Given the description of an element on the screen output the (x, y) to click on. 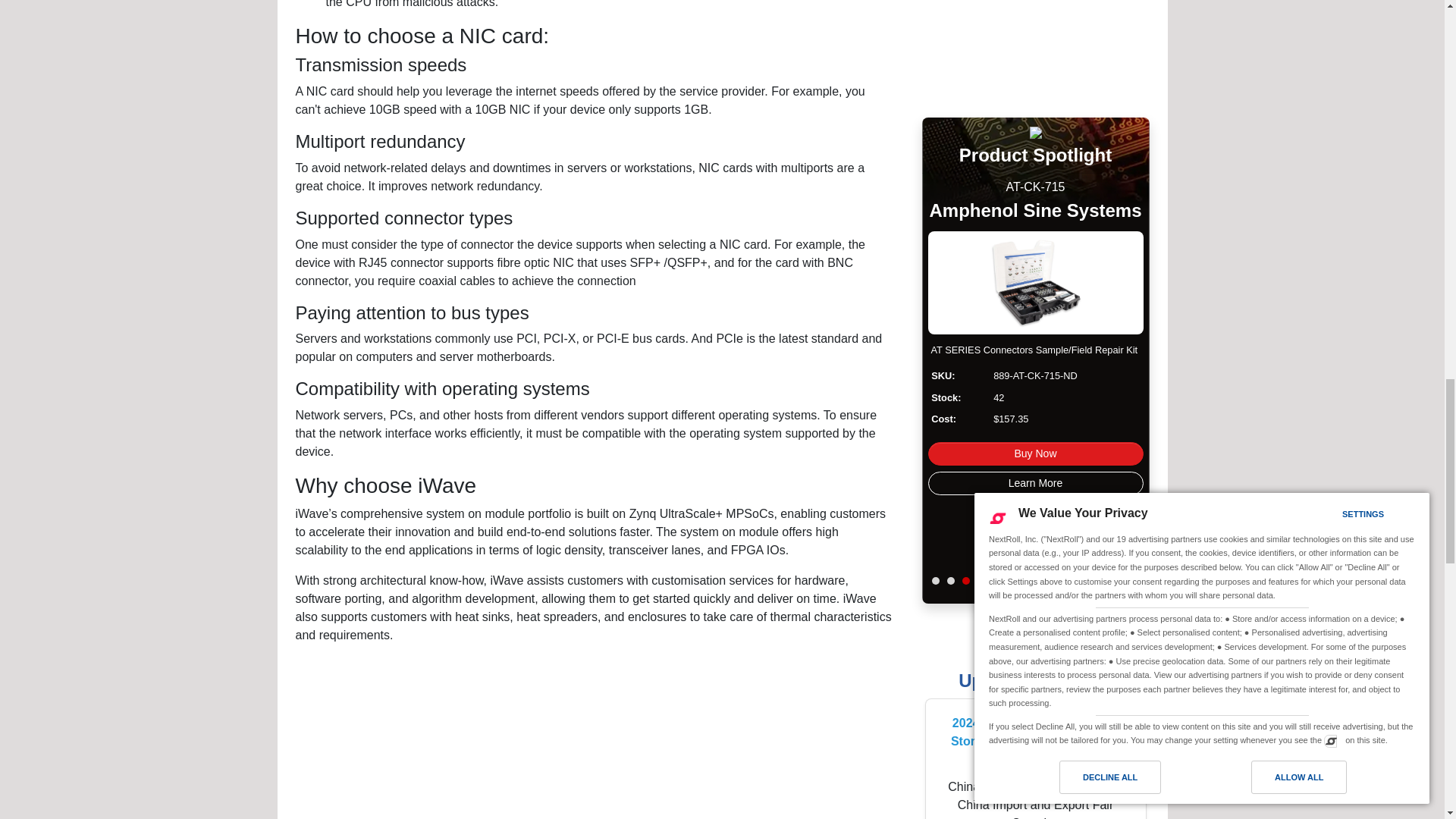
All upcoming events (1035, 680)
3rd party ad content (1035, 49)
